Given the description of an element on the screen output the (x, y) to click on. 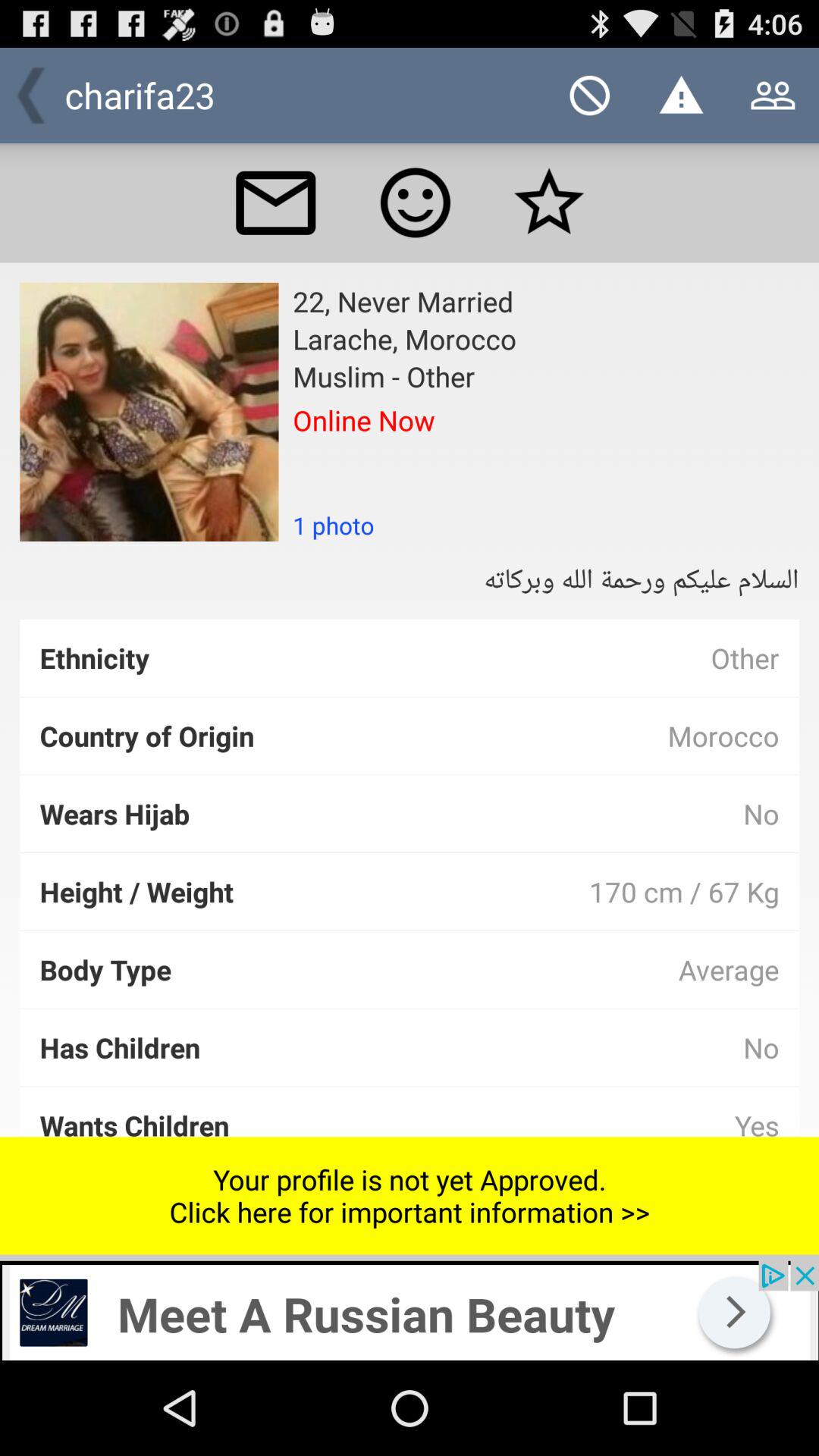
send a message to this person (275, 202)
